Given the description of an element on the screen output the (x, y) to click on. 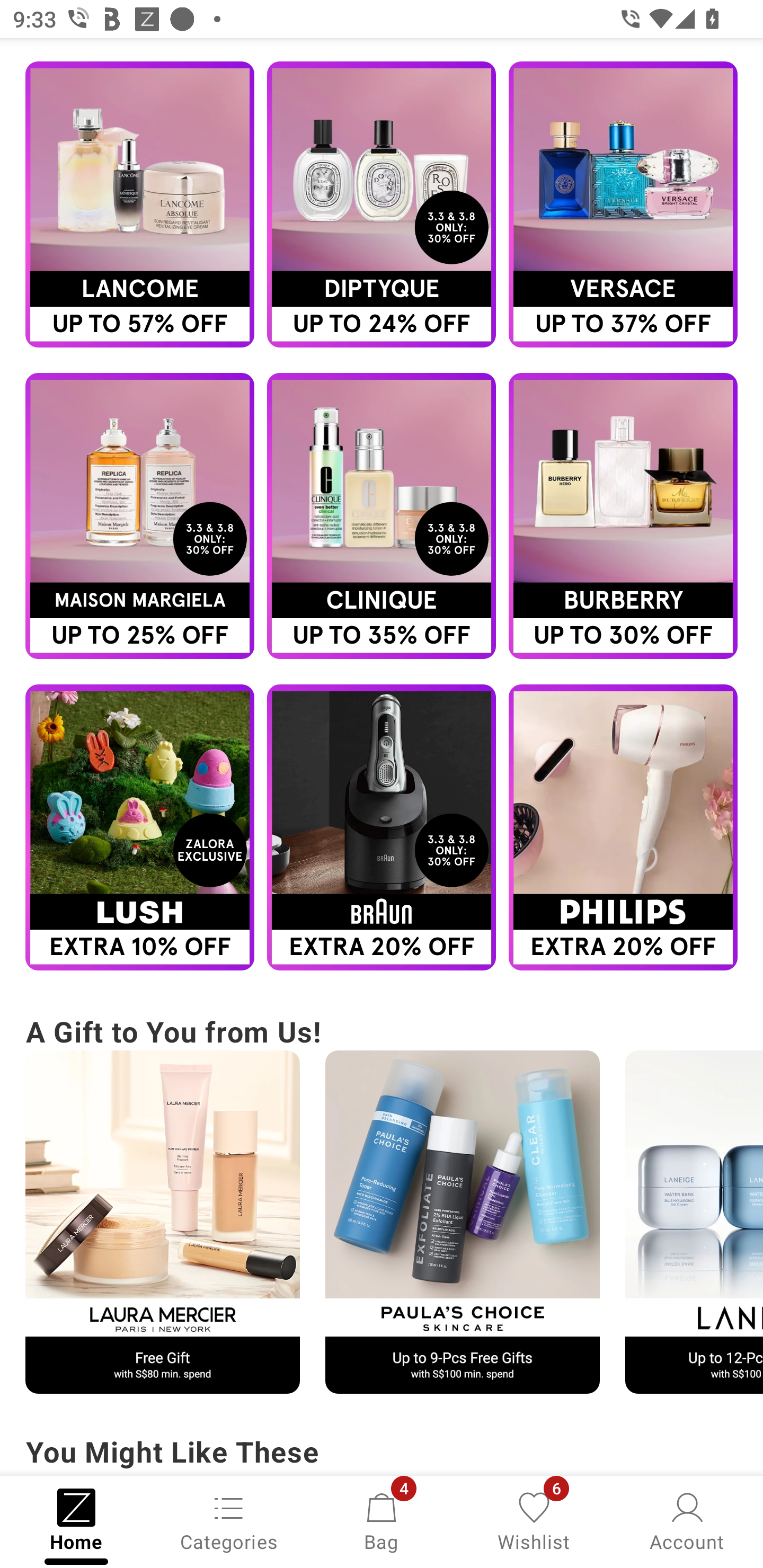
Campaign banner (139, 204)
Campaign banner (381, 204)
Campaign banner (622, 204)
Campaign banner (139, 515)
Campaign banner (381, 515)
Campaign banner (622, 515)
Campaign banner (139, 826)
Campaign banner (381, 826)
Campaign banner (622, 826)
Campaign banner (162, 1221)
Campaign banner (462, 1221)
Campaign banner (693, 1221)
You Might Like These (381, 1453)
Categories (228, 1519)
Bag, 4 new notifications Bag (381, 1519)
Wishlist, 6 new notifications Wishlist (533, 1519)
Account (686, 1519)
